Given the description of an element on the screen output the (x, y) to click on. 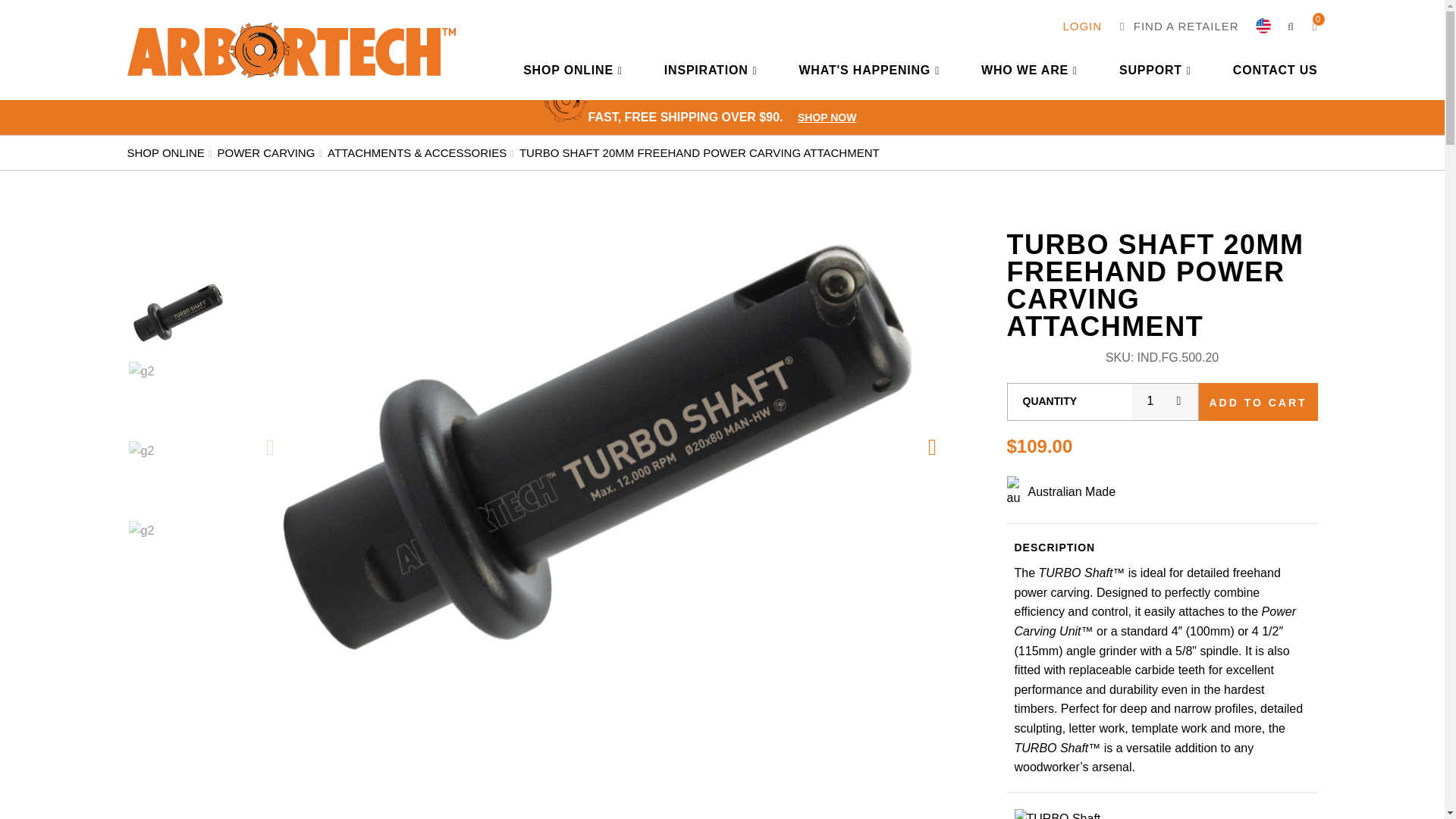
SHOP ONLINE (572, 69)
LOGIN (1082, 25)
FIND A RETAILER (1179, 25)
INSPIRATION (710, 69)
SUPPORT (1155, 69)
WHAT'S HAPPENING (868, 69)
WHO WE ARE (1029, 69)
